Given the description of an element on the screen output the (x, y) to click on. 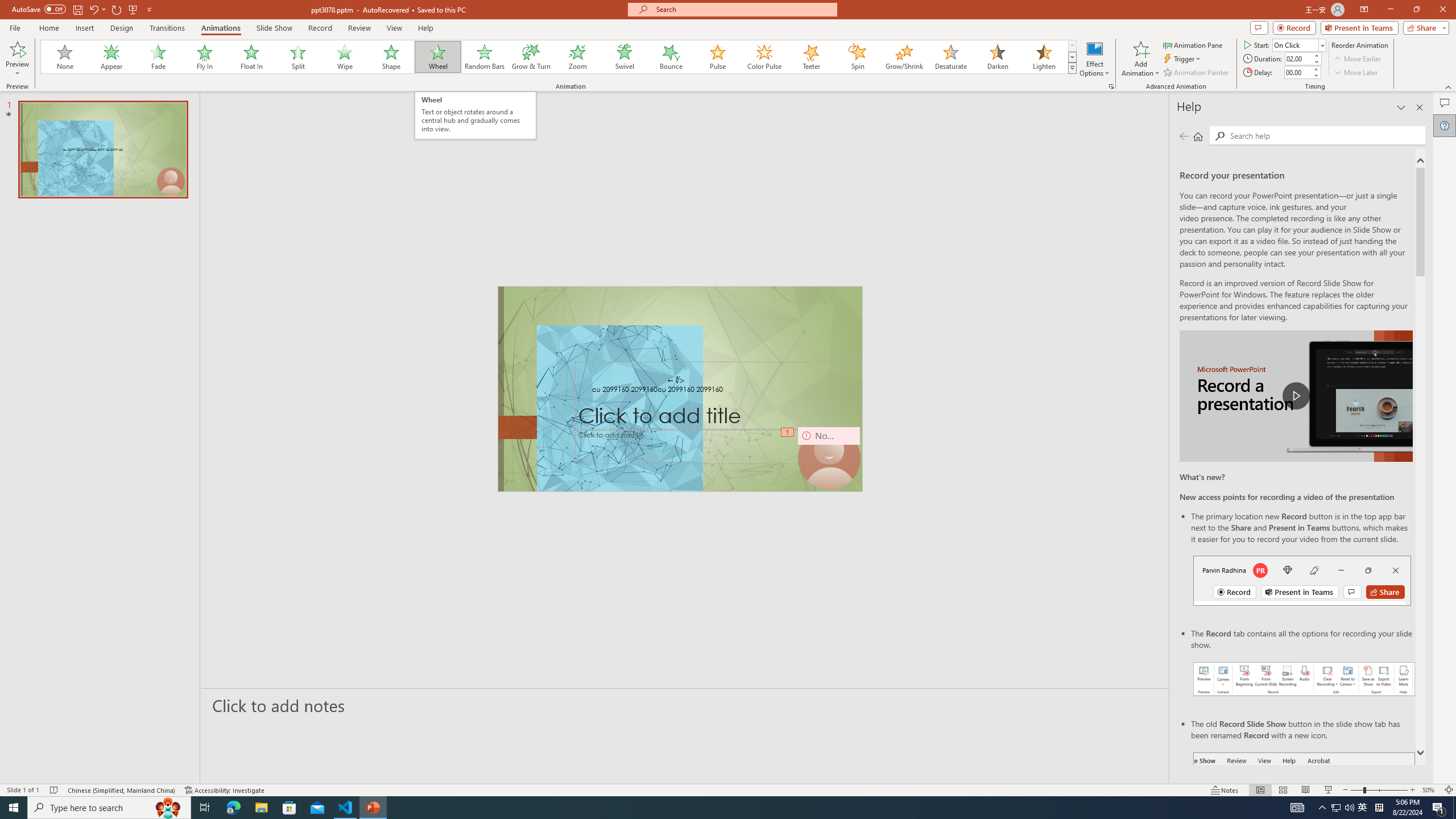
Animation Styles (1071, 67)
Wheel (437, 56)
Swivel (624, 56)
Move Earlier (1357, 58)
Lighten (1043, 56)
Animation Delay (1297, 72)
